Given the description of an element on the screen output the (x, y) to click on. 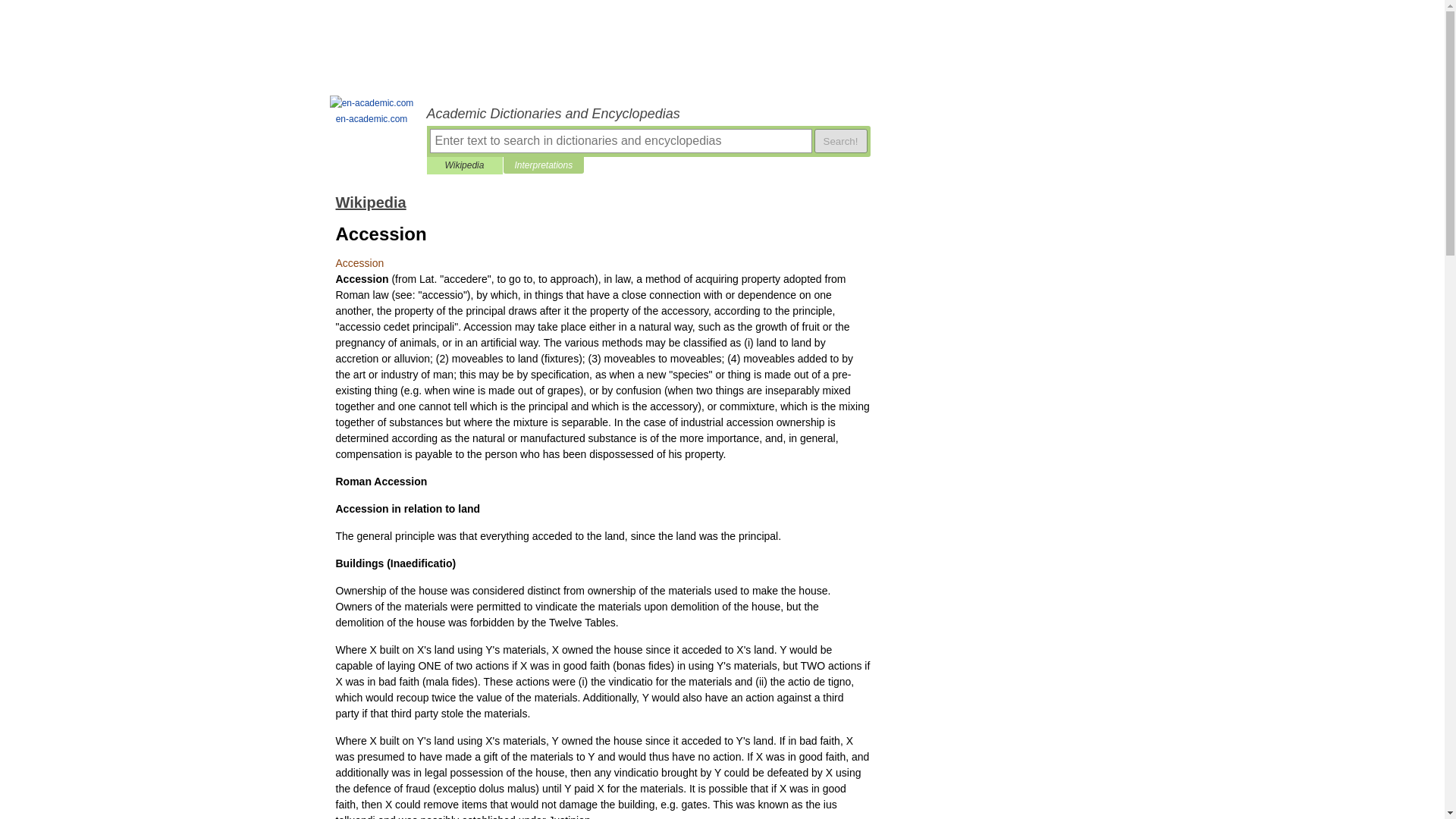
Academic Dictionaries and Encyclopedias (647, 114)
Enter text to search in dictionaries and encyclopedias (619, 140)
Search! (840, 140)
Wikipedia (370, 202)
Interpretations (542, 165)
en-academic.com (371, 111)
Wikipedia (465, 165)
